Given the description of an element on the screen output the (x, y) to click on. 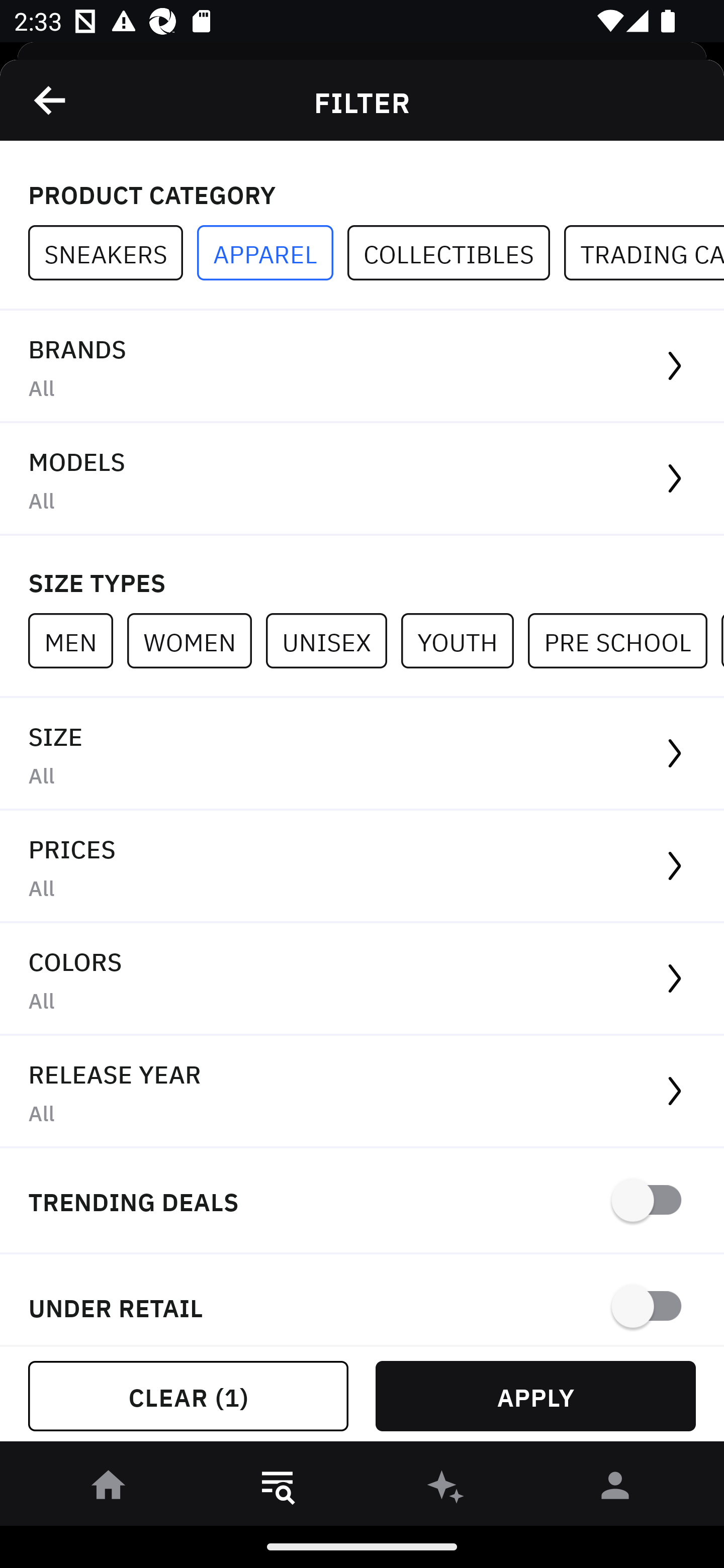
 (50, 100)
SNEAKERS (112, 252)
APPAREL (271, 252)
COLLECTIBLES (455, 252)
TRADING CARDS (643, 252)
BRANDS All (362, 366)
MODELS All (362, 479)
MEN (77, 640)
WOMEN (196, 640)
UNISEX (333, 640)
YOUTH (464, 640)
PRE SCHOOL (624, 640)
SIZE All (362, 753)
PRICES All (362, 866)
COLORS All (362, 979)
RELEASE YEAR All (362, 1091)
TRENDING DEALS (362, 1200)
UNDER RETAIL (362, 1299)
CLEAR (1) (188, 1396)
APPLY (535, 1396)
󰋜 (108, 1488)
󱎸 (277, 1488)
󰫢 (446, 1488)
󰀄 (615, 1488)
